Given the description of an element on the screen output the (x, y) to click on. 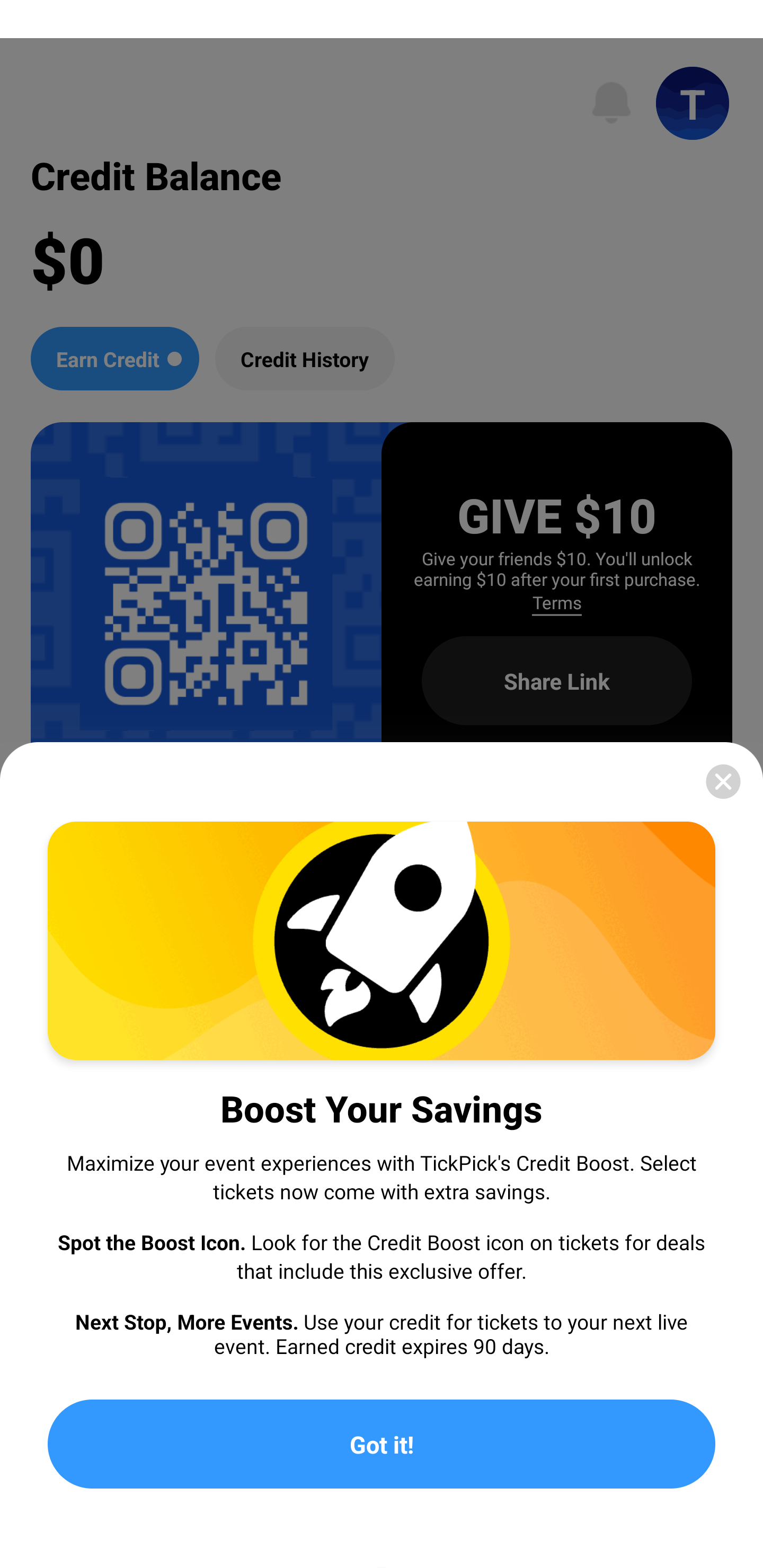
Got it! (381, 1444)
